Given the description of an element on the screen output the (x, y) to click on. 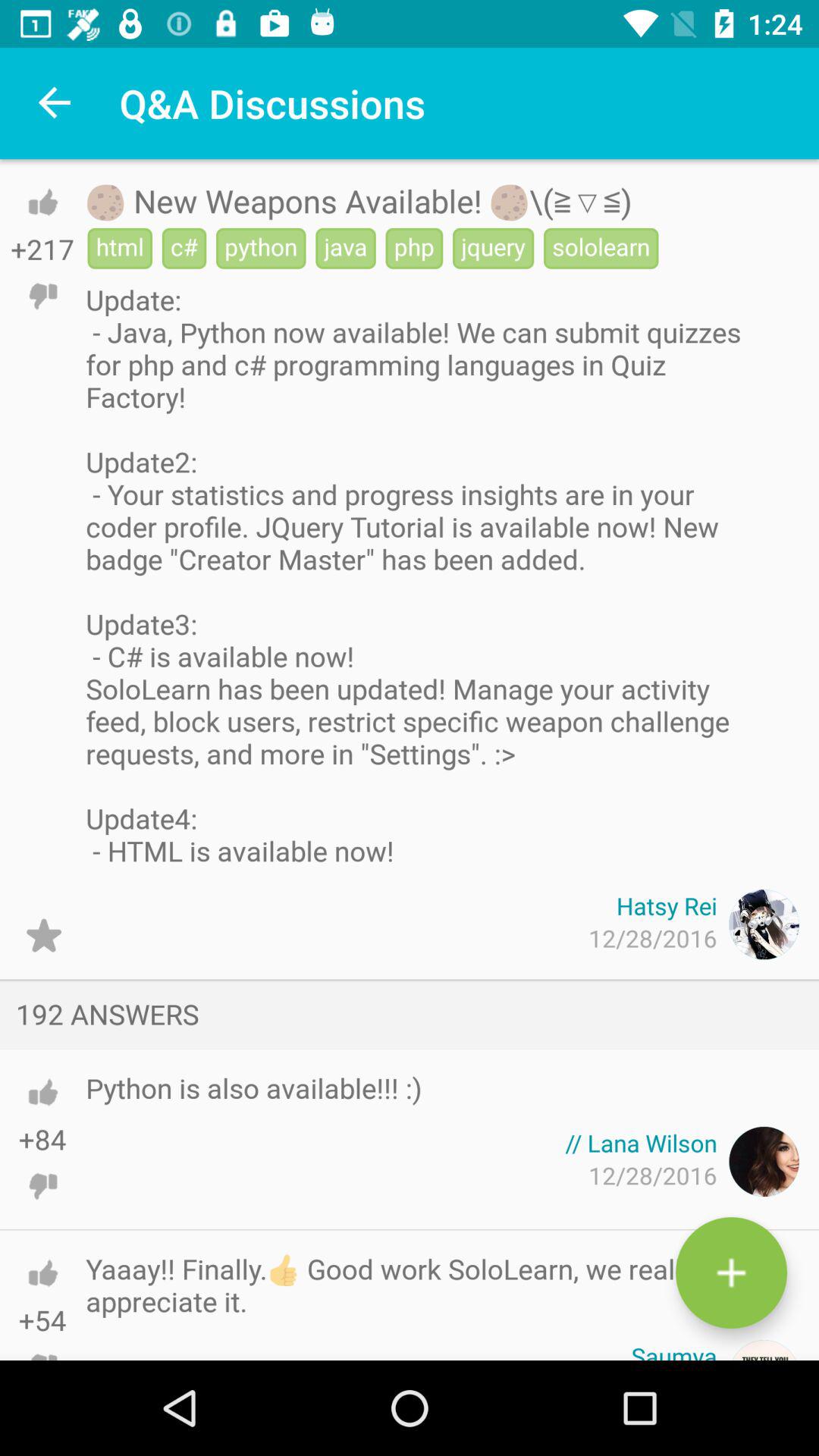
press the icon to the left of 12/28/2016 item (43, 935)
